Given the description of an element on the screen output the (x, y) to click on. 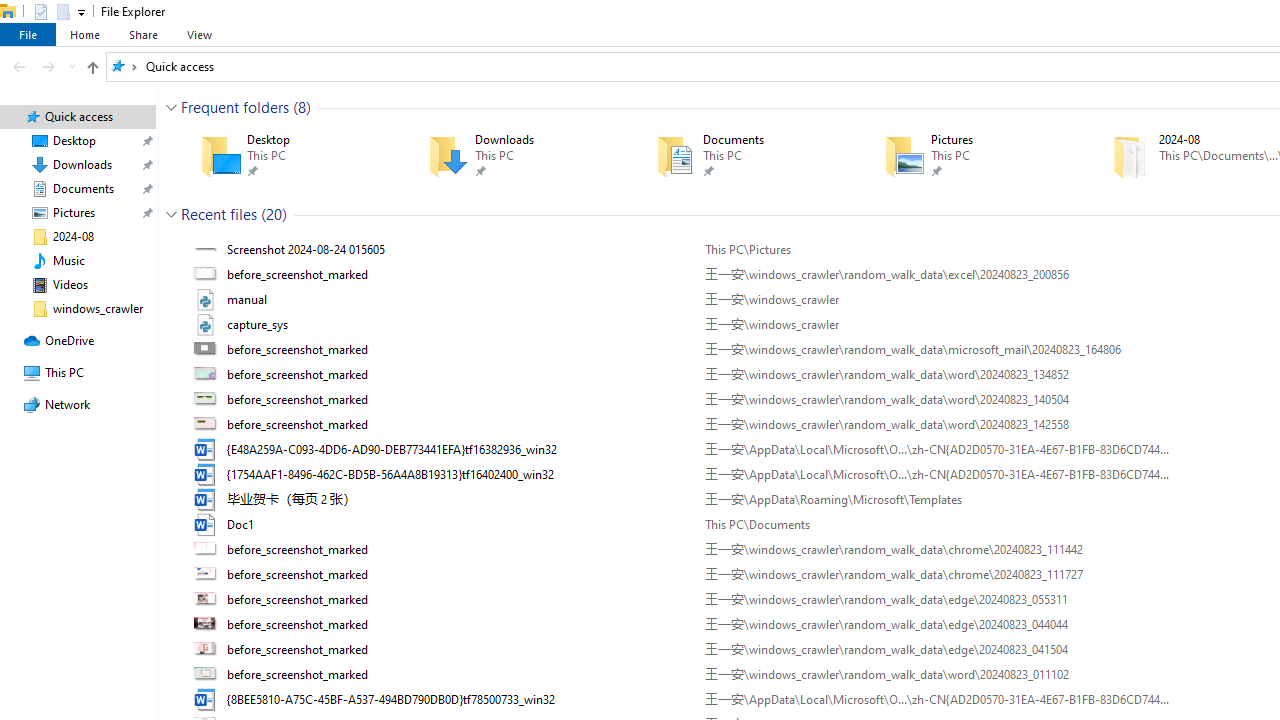
View (199, 34)
Class: UIImage (207, 699)
Customize Quick Access Toolbar (81, 11)
Downloads (513, 156)
System (10, 11)
Share (143, 34)
Pinned (1003, 170)
Quick access (179, 65)
Home (84, 34)
Count (273, 213)
Name (458, 699)
